Given the description of an element on the screen output the (x, y) to click on. 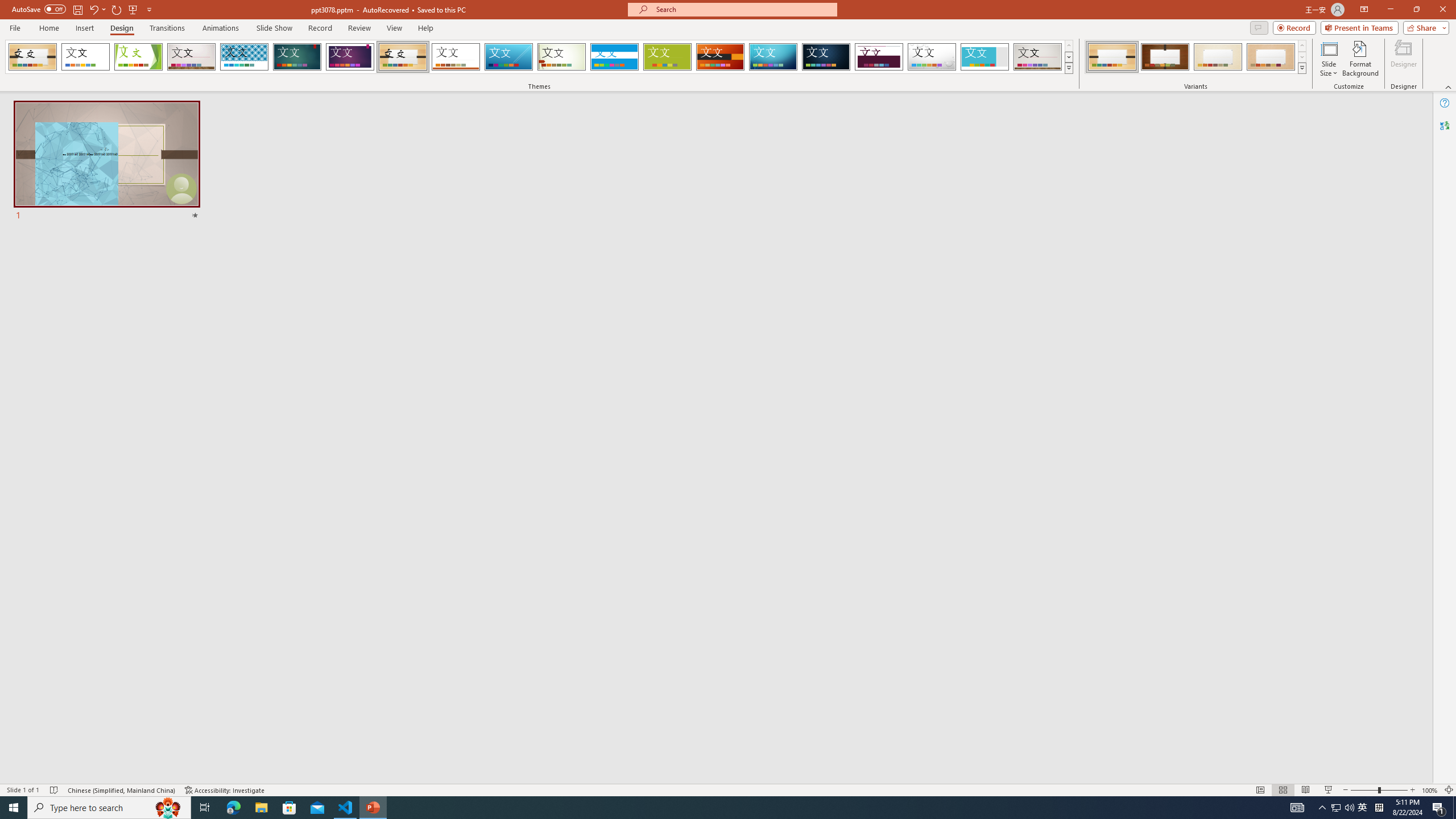
Dividend (879, 56)
Slice (508, 56)
Droplet (931, 56)
Organic Variant 4 (1270, 56)
Wisp (561, 56)
Organic Variant 2 (1164, 56)
